Given the description of an element on the screen output the (x, y) to click on. 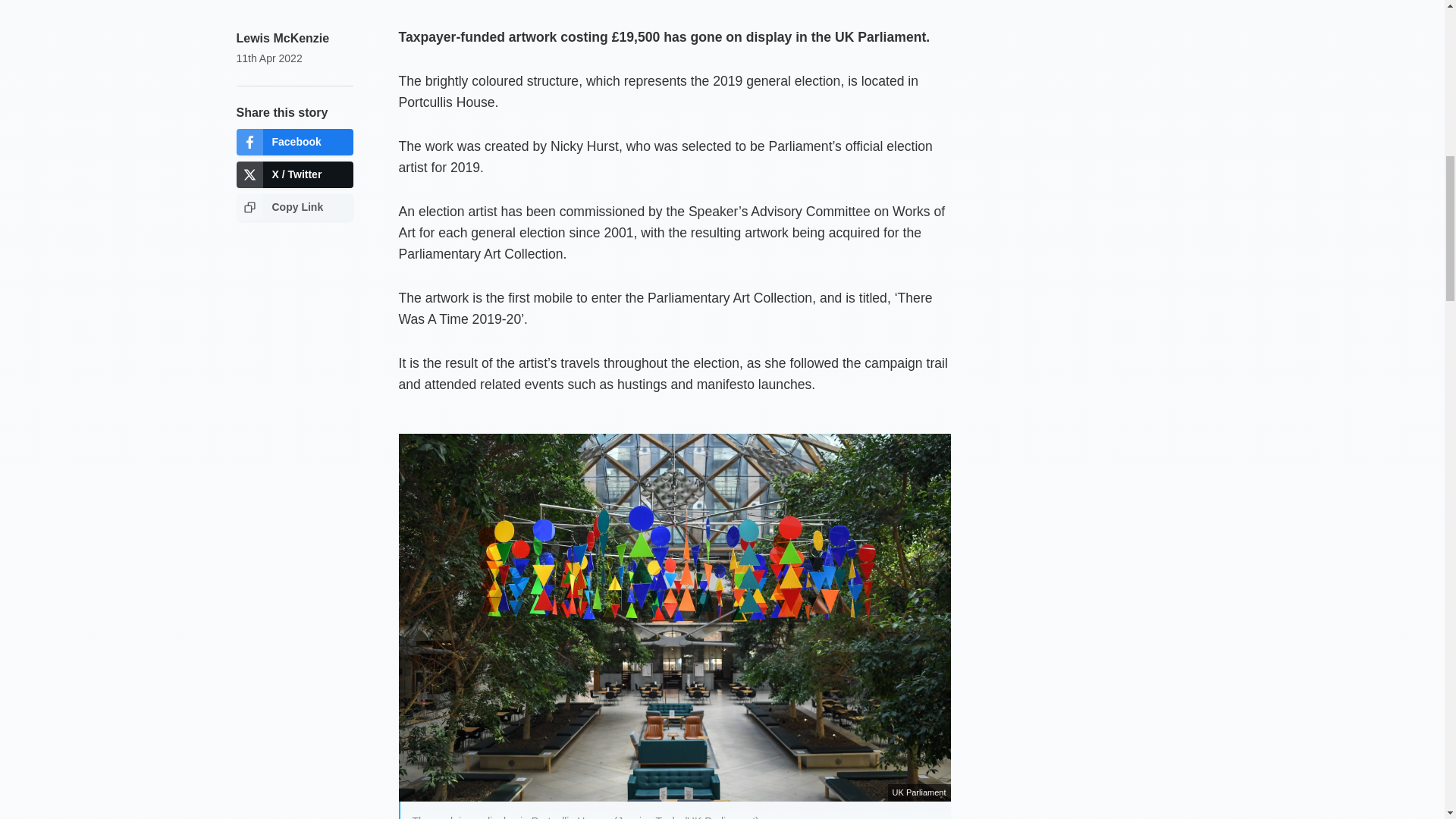
Facebook (294, 141)
Lewis McKenzie (282, 38)
